Given the description of an element on the screen output the (x, y) to click on. 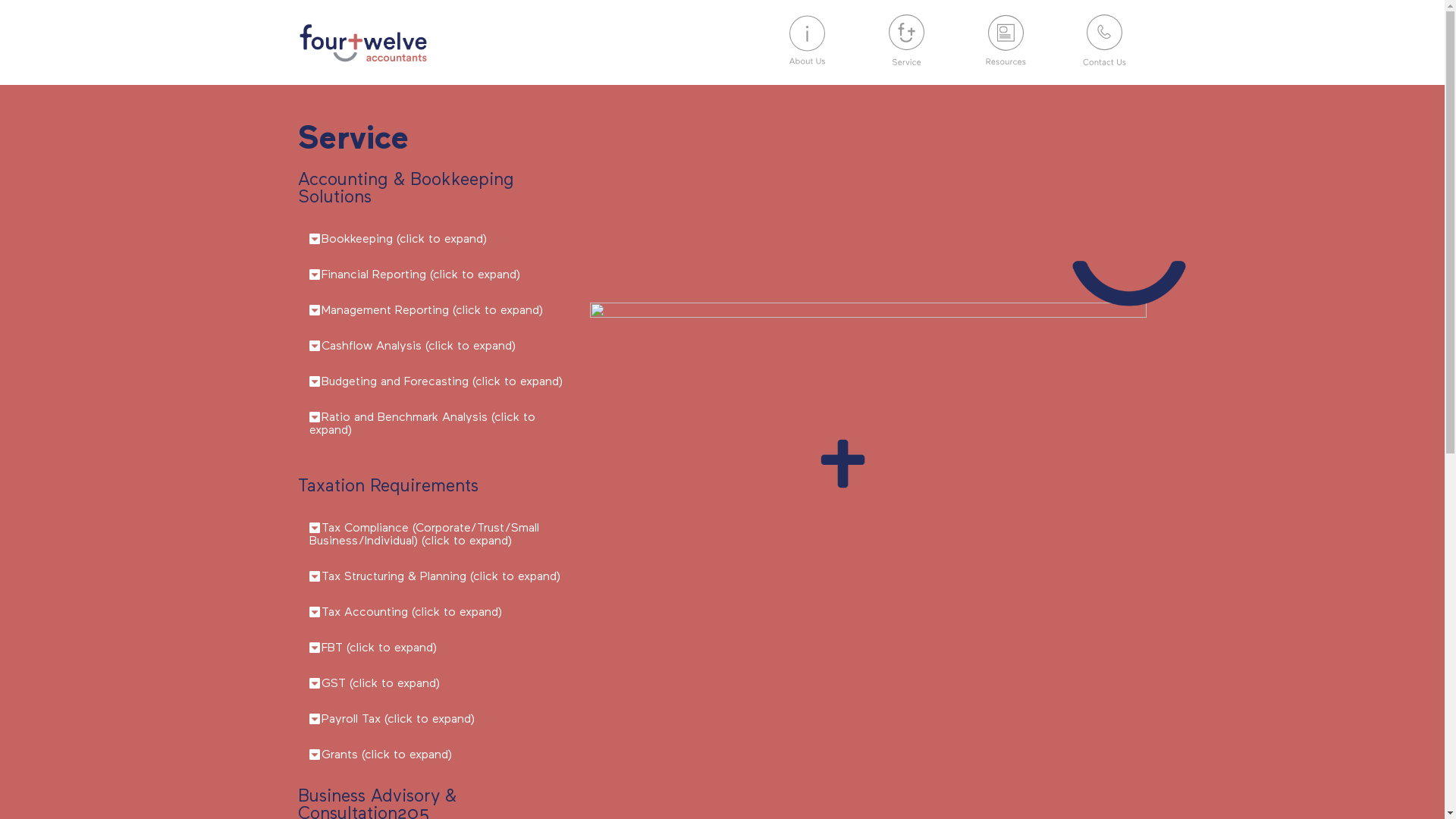
Cashflow Analysis (click to expand) Element type: text (418, 346)
Tax Structuring & Planning (click to expand) Element type: text (440, 577)
Budgeting and Forecasting (click to expand) Element type: text (441, 382)
Tax Accounting (click to expand) Element type: text (411, 612)
Payroll Tax (click to expand) Element type: text (397, 719)
Grants (click to expand) Element type: text (386, 755)
Ratio and Benchmark Analysis (click to expand) Element type: text (422, 423)
GST (click to expand) Element type: text (380, 683)
Financial Reporting (click to expand) Element type: text (420, 275)
Management Reporting (click to expand) Element type: text (431, 310)
FBT (click to expand) Element type: text (378, 648)
Bookkeeping (click to expand) Element type: text (403, 239)
Four_Twelve_Wordmark_coral_accountants-01 Element type: hover (362, 41)
